Given the description of an element on the screen output the (x, y) to click on. 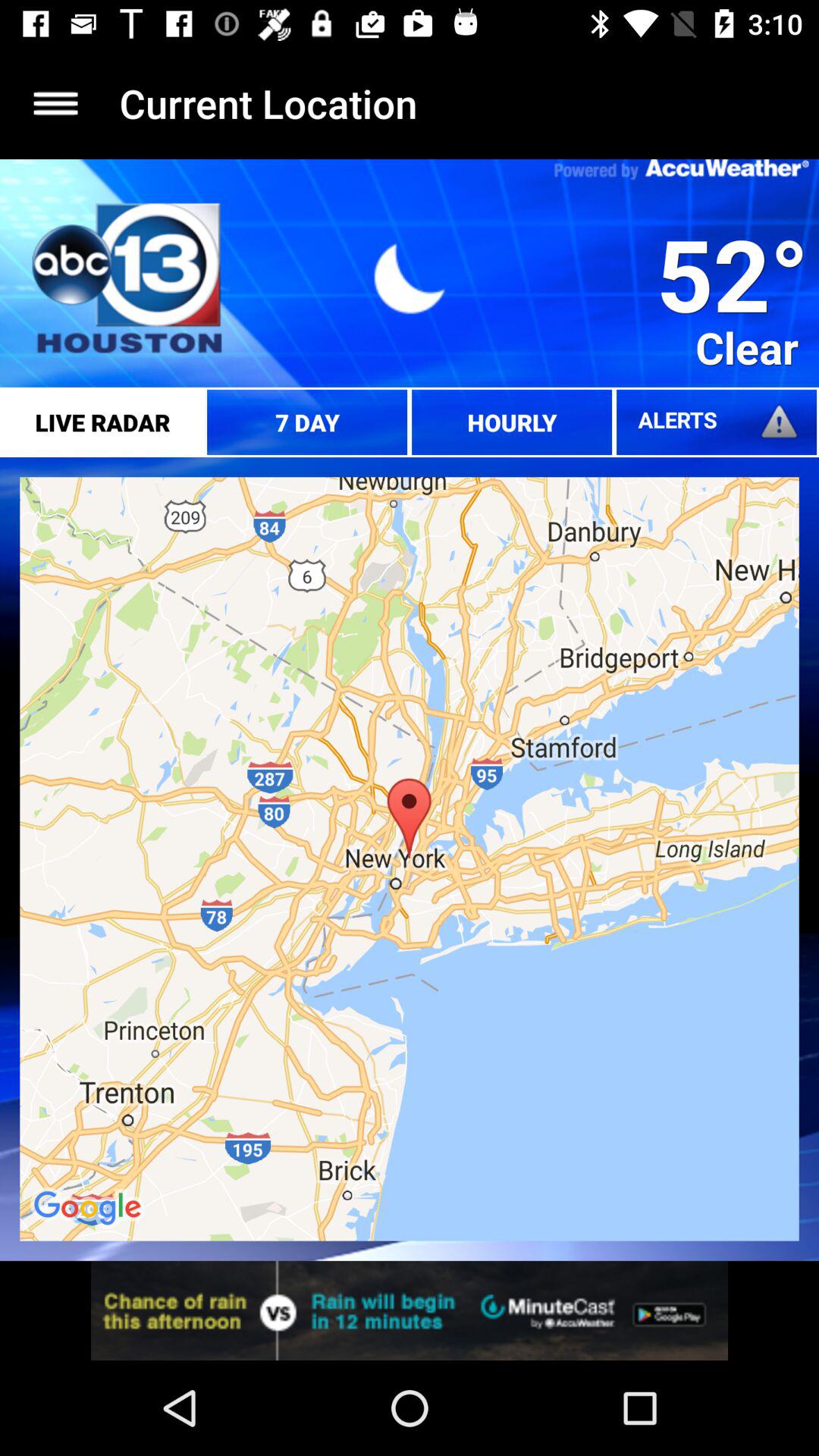
opens a advertisement (409, 1310)
